Given the description of an element on the screen output the (x, y) to click on. 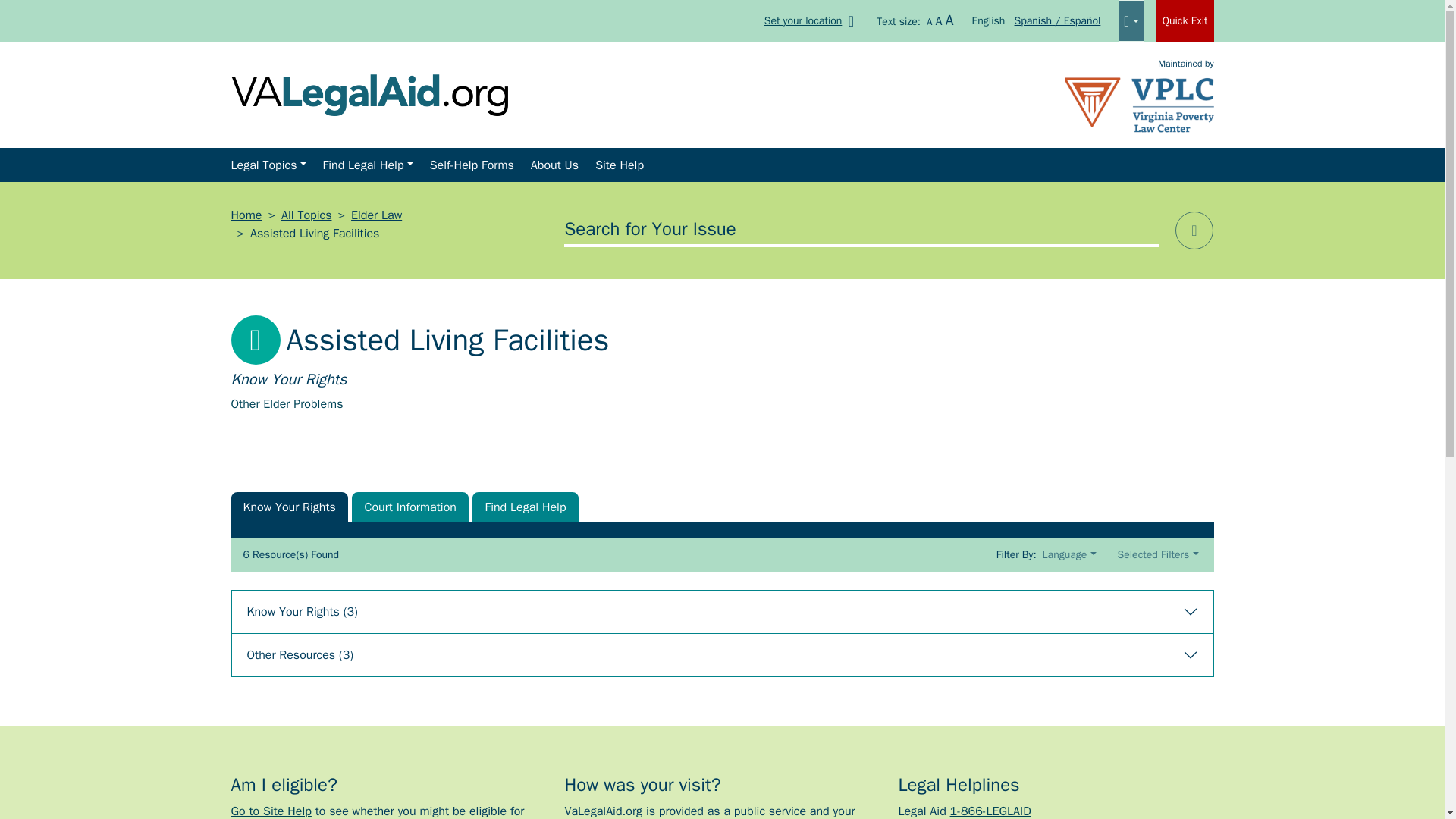
Find Legal Help (368, 164)
A (948, 19)
Legal Topics (267, 164)
Quick Exit (1184, 20)
VALegalAid.org (369, 93)
Set your location (812, 20)
A (928, 21)
Court Information (409, 507)
Find Legal Help (524, 507)
A (939, 20)
Set your location (812, 20)
Know Your Rights (288, 507)
Virginia Poverty Law Center (1139, 103)
All Languages (1130, 20)
